Given the description of an element on the screen output the (x, y) to click on. 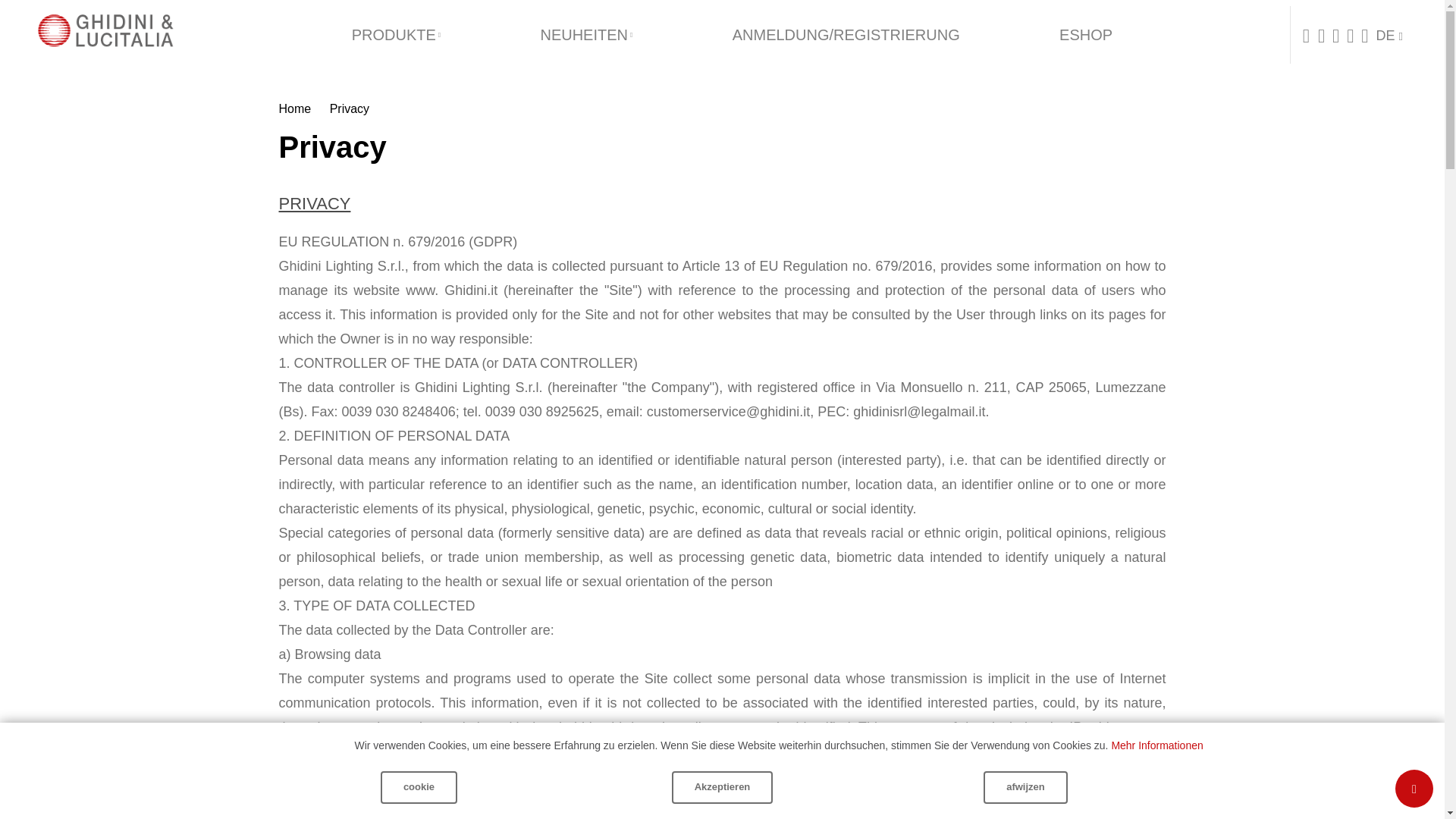
DE (1390, 35)
NEUHEITEN (586, 34)
PRODUKTE (396, 34)
ESHOP (1085, 34)
